Given the description of an element on the screen output the (x, y) to click on. 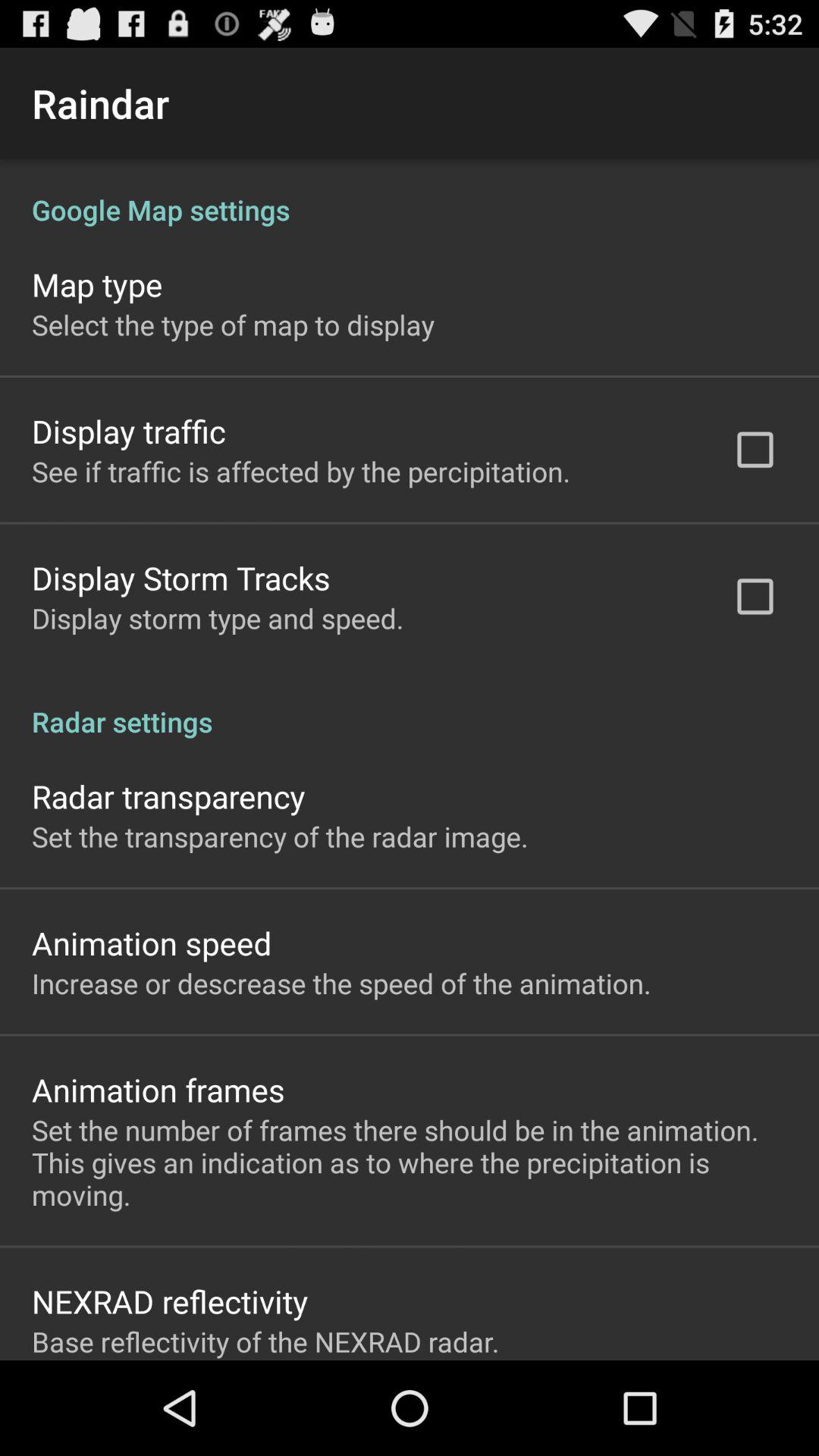
scroll to the increase or descrease app (341, 983)
